Given the description of an element on the screen output the (x, y) to click on. 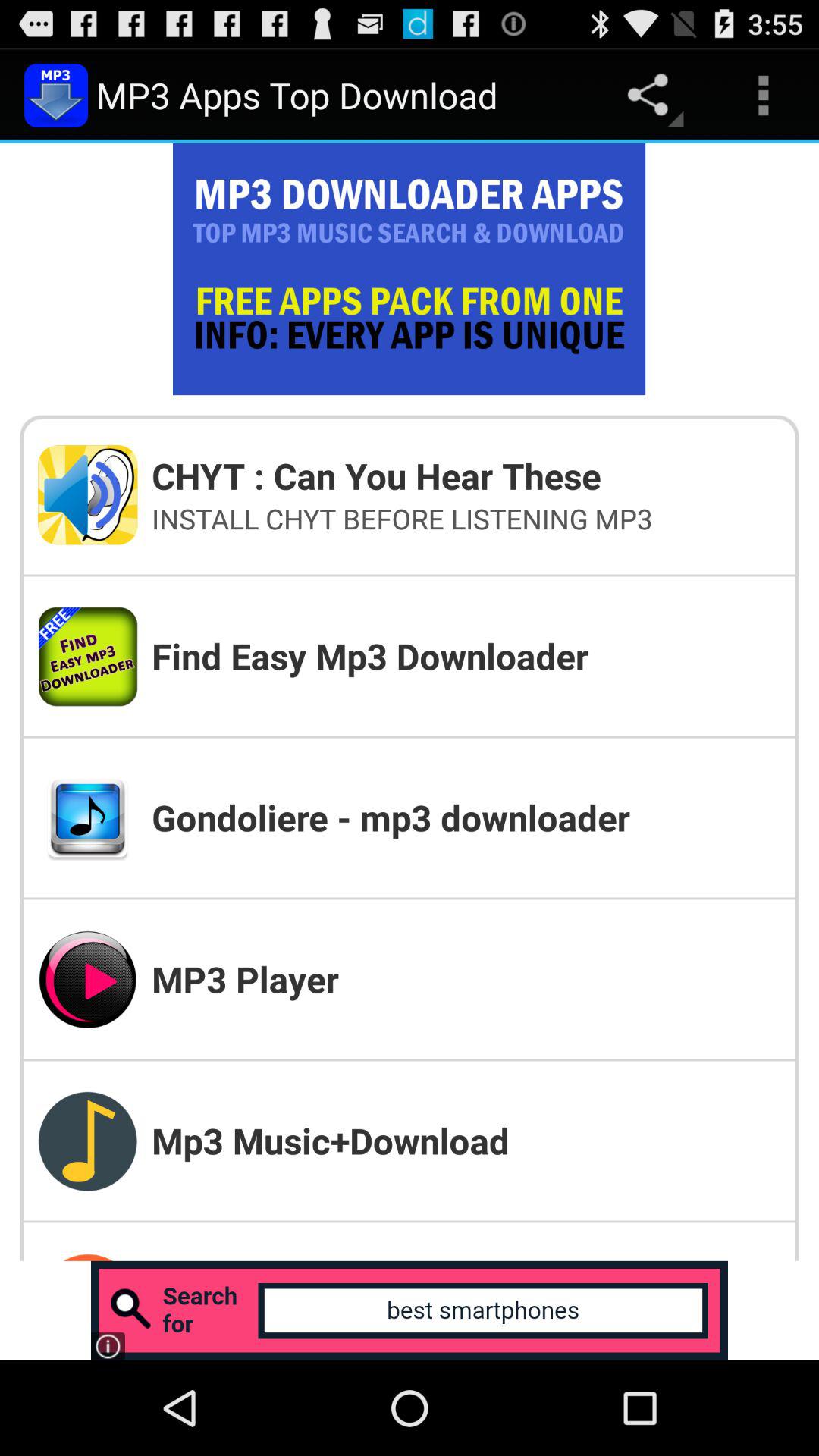
choose gondoliere - mp3 downloader (465, 817)
